Given the description of an element on the screen output the (x, y) to click on. 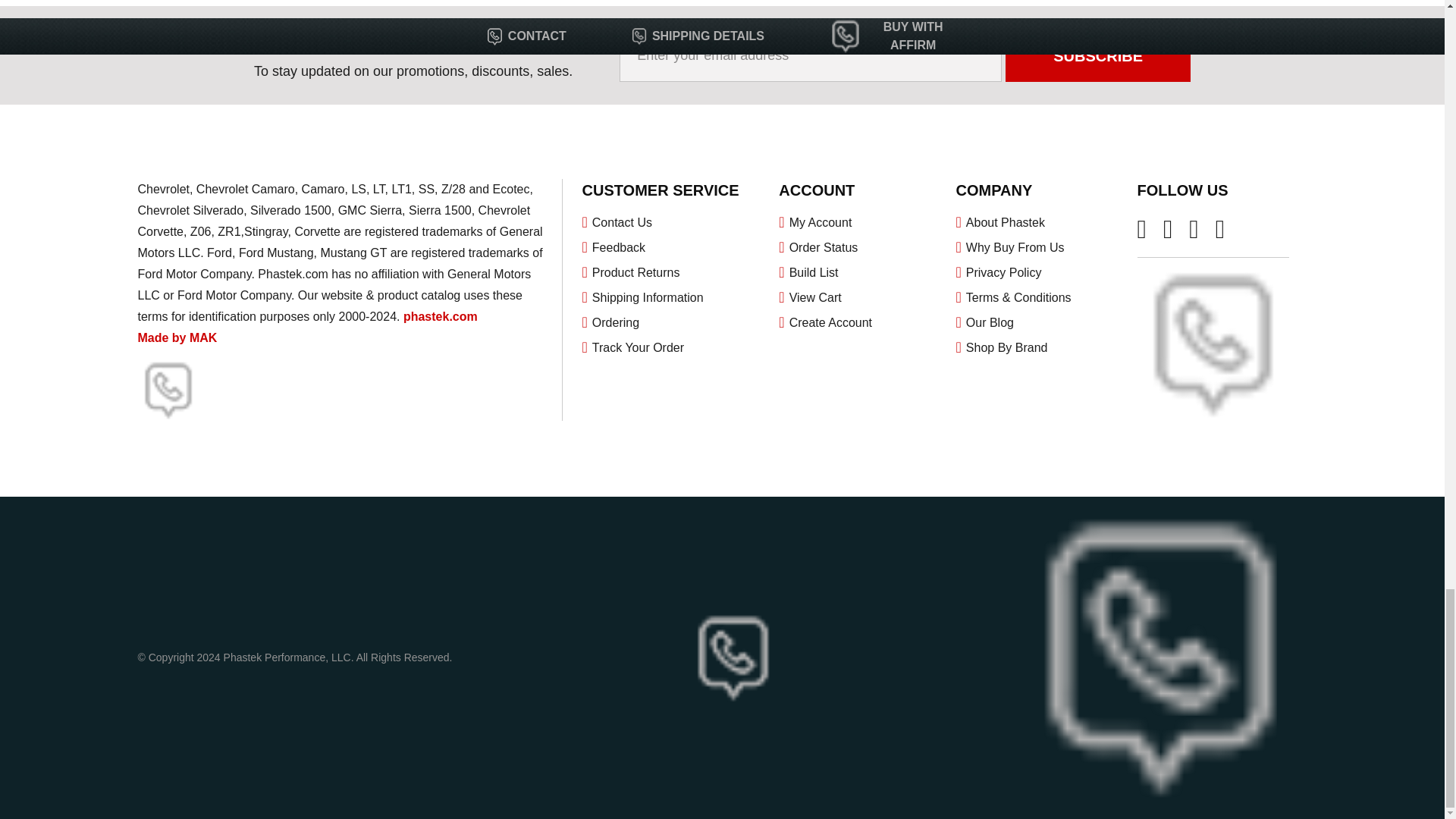
BigCommerce Developer (162, 337)
Subscribe (1098, 54)
view SEMA Member (168, 390)
